Given the description of an element on the screen output the (x, y) to click on. 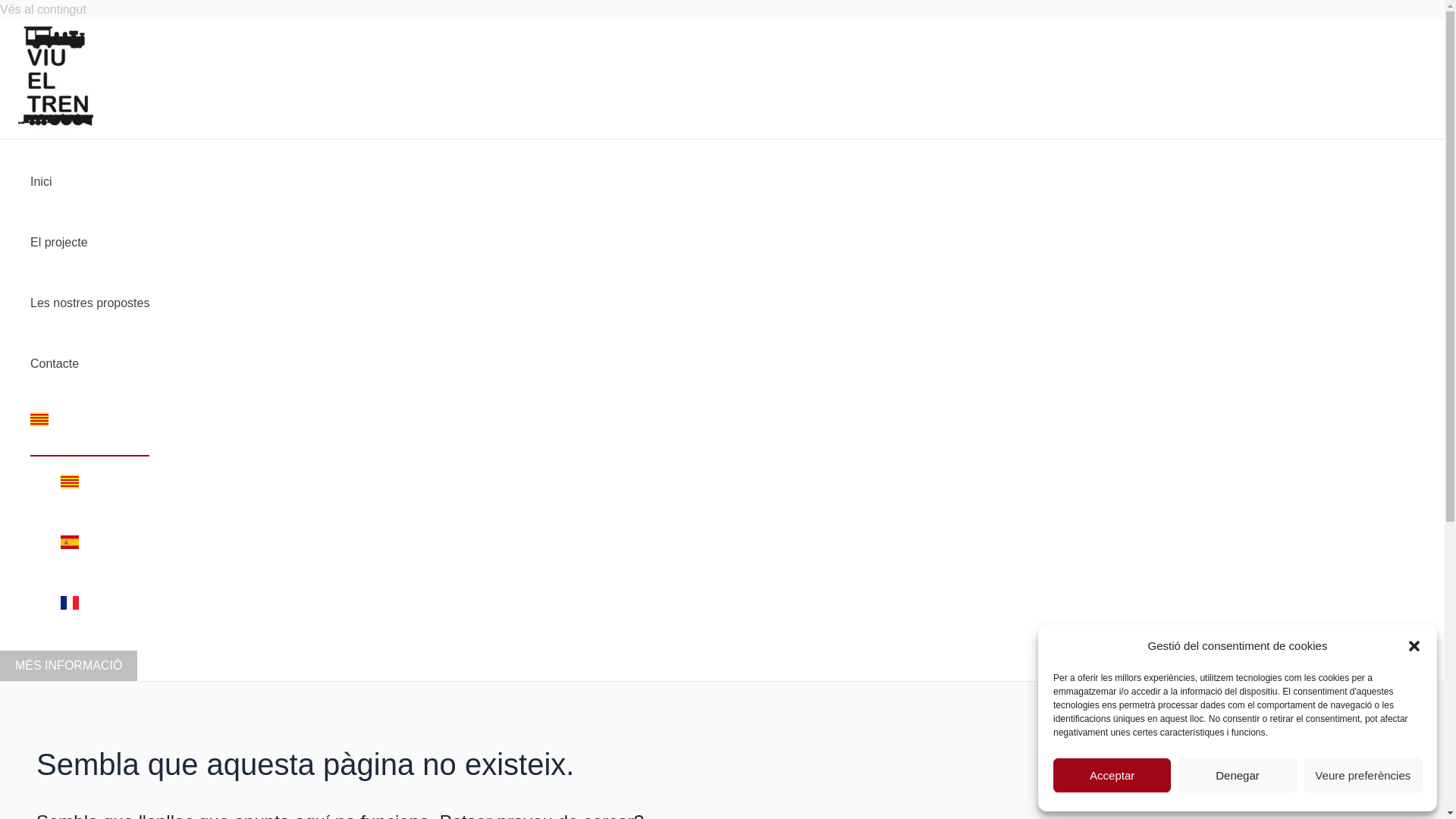
Denegar Element type: text (1236, 775)
Inici Element type: text (89, 181)
French Element type: hover (104, 607)
Spanish Element type: hover (104, 547)
El projecte Element type: text (89, 242)
Catalan Element type: hover (89, 424)
Catalan Element type: hover (104, 486)
Acceptar Element type: text (1111, 775)
Contacte Element type: text (89, 363)
Les nostres propostes Element type: text (89, 303)
